Given the description of an element on the screen output the (x, y) to click on. 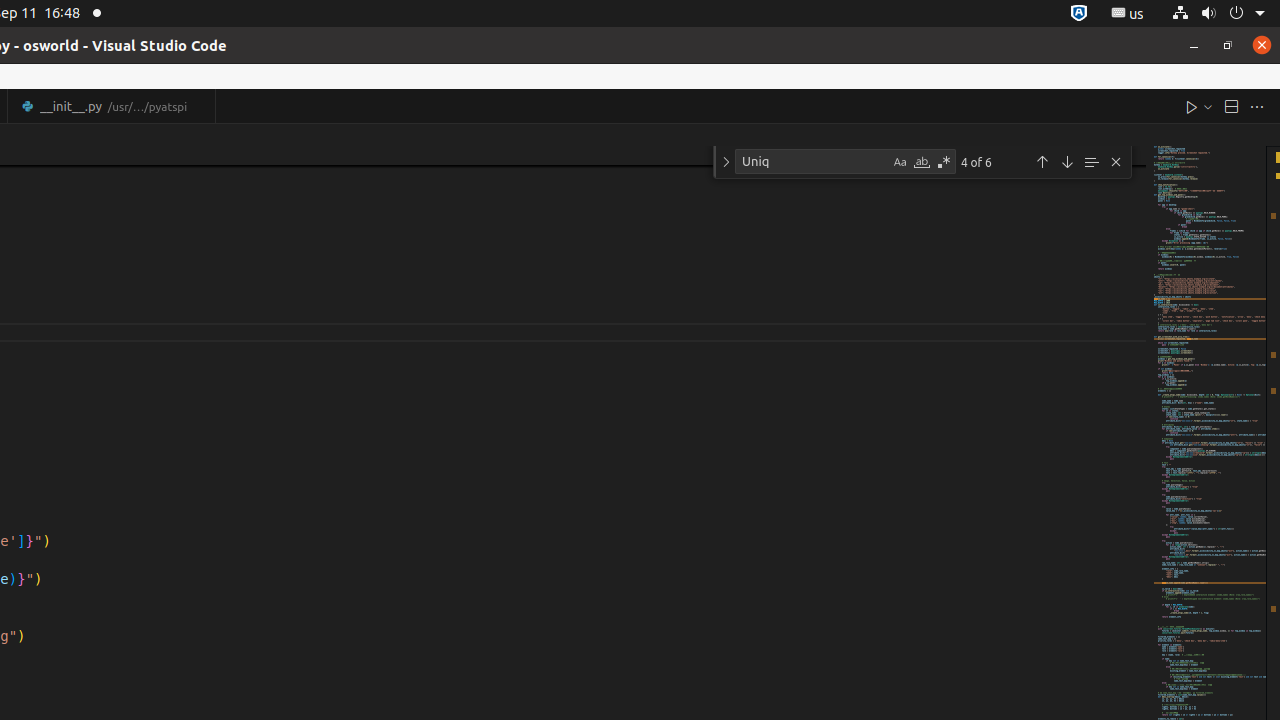
Match Case (Alt+C) Element type: check-box (900, 162)
Close (Escape) Element type: push-button (1116, 162)
__init__.py Element type: page-tab (112, 106)
Previous Match (Shift+Enter) Element type: push-button (1042, 161)
Toggle Replace Element type: push-button (726, 162)
